Given the description of an element on the screen output the (x, y) to click on. 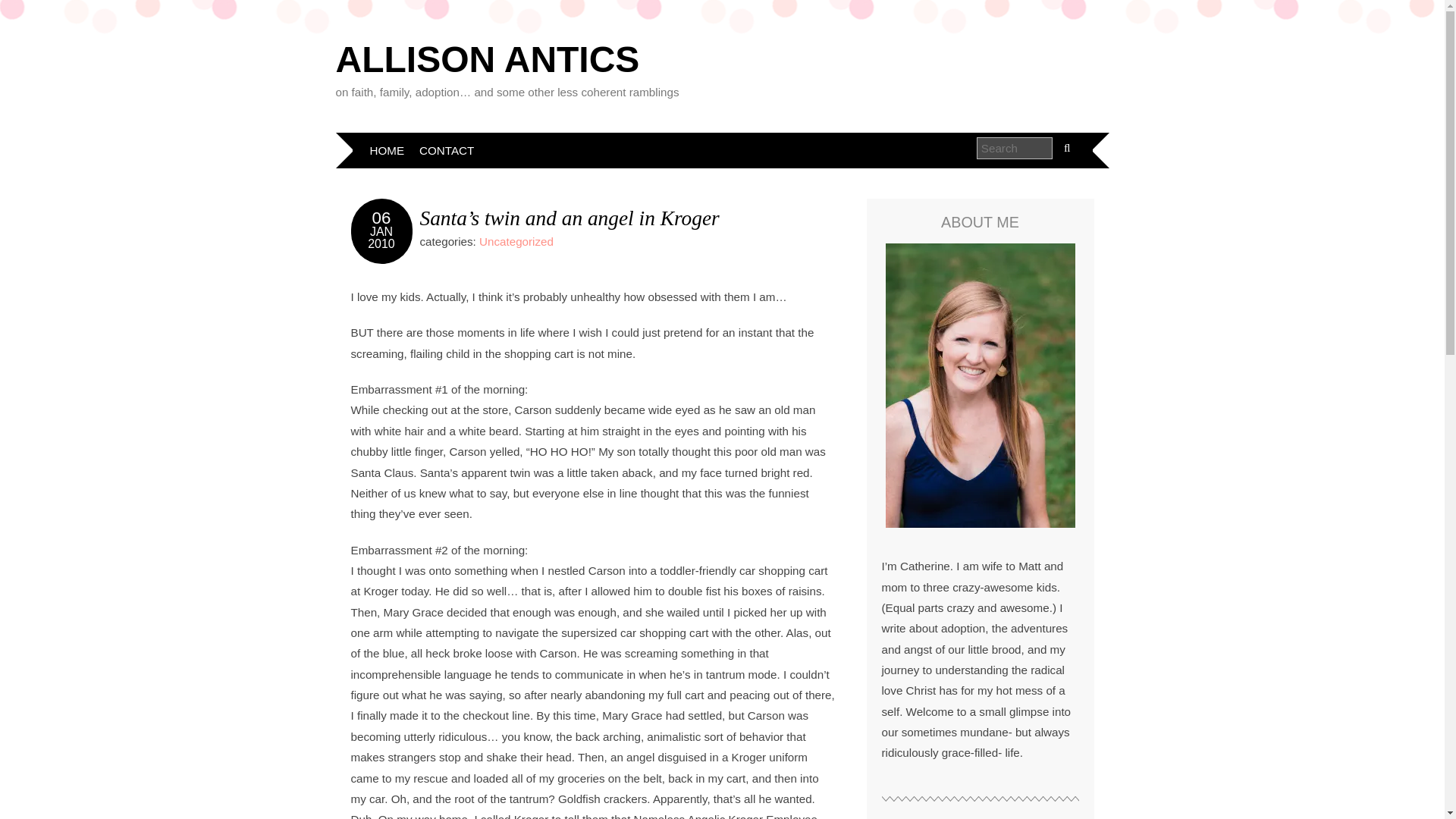
06 (381, 217)
Uncategorized (516, 241)
ALLISON ANTICS (486, 59)
CONTACT (446, 150)
HOME (387, 150)
